Given the description of an element on the screen output the (x, y) to click on. 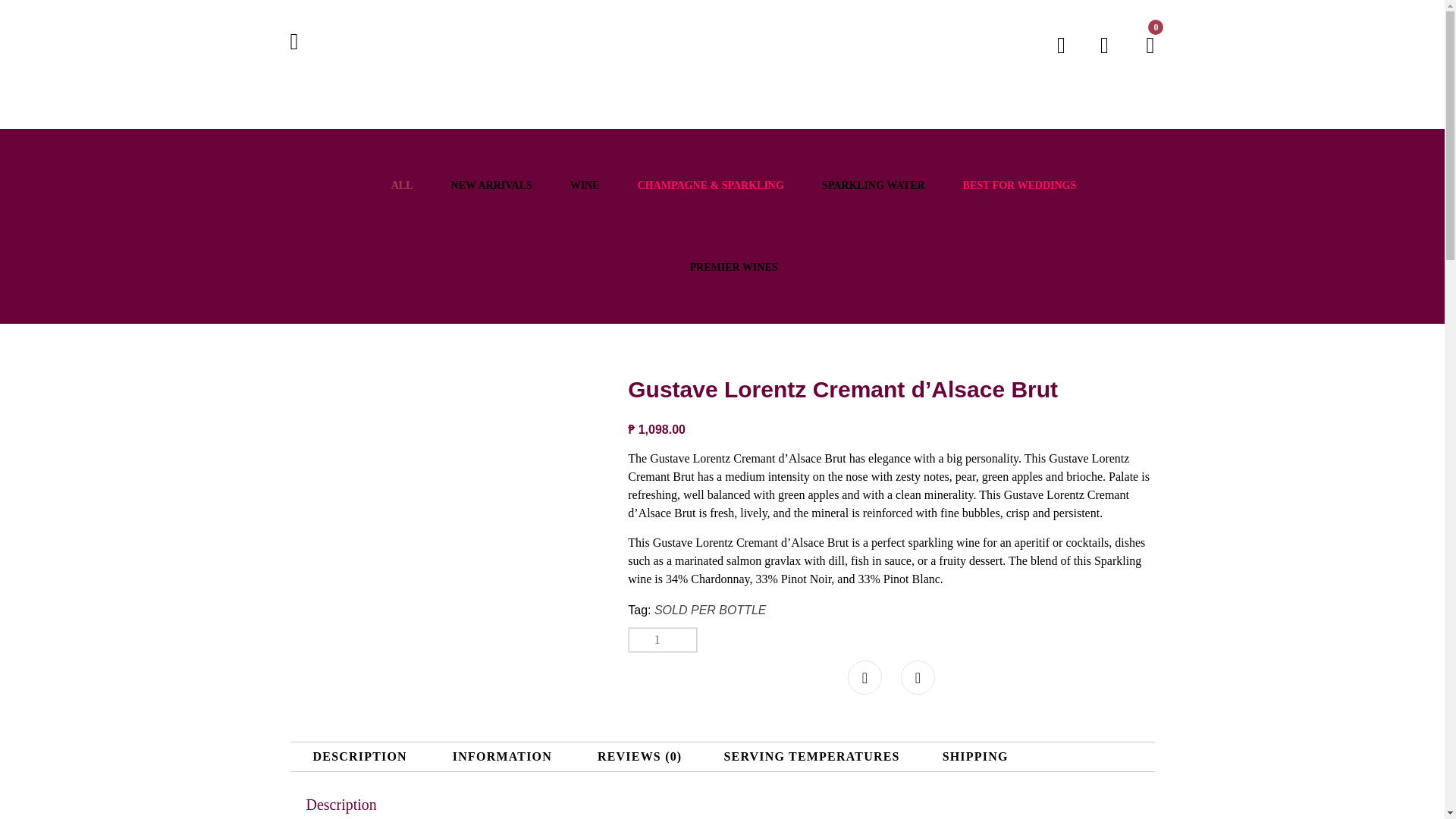
NEW ARRIVALS (491, 185)
1 (662, 639)
SOLD PER BOTTLE (710, 609)
SPARKLING WATER (873, 185)
BEST FOR WEDDINGS (1019, 185)
Qty (662, 639)
PREMIER WINES (732, 267)
